Given the description of an element on the screen output the (x, y) to click on. 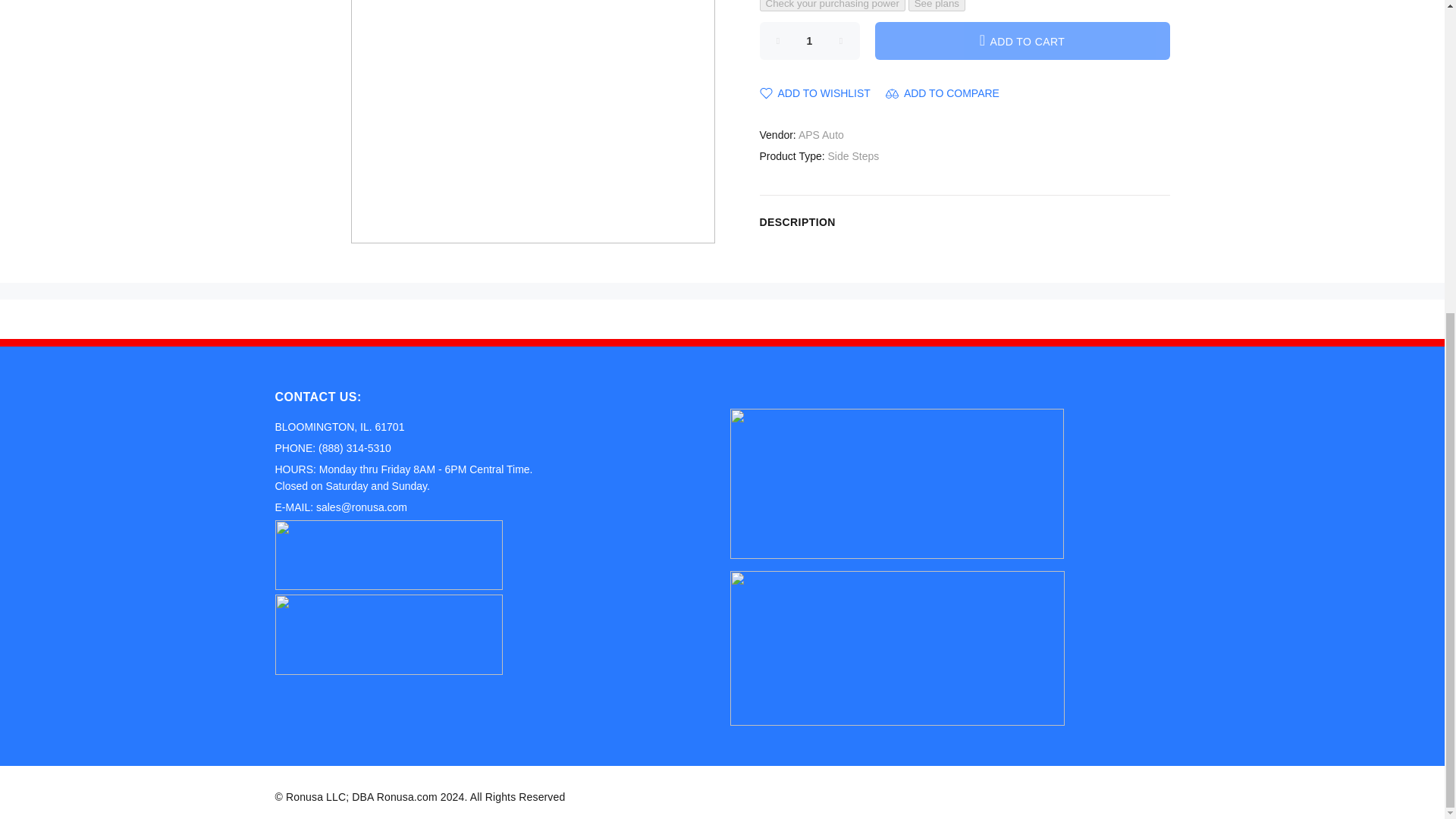
1 (810, 39)
APS Auto (820, 134)
Side Steps (853, 155)
ADD TO COMPARE (941, 92)
ADD TO CART (1022, 39)
ADD TO WISHLIST (815, 92)
